Given the description of an element on the screen output the (x, y) to click on. 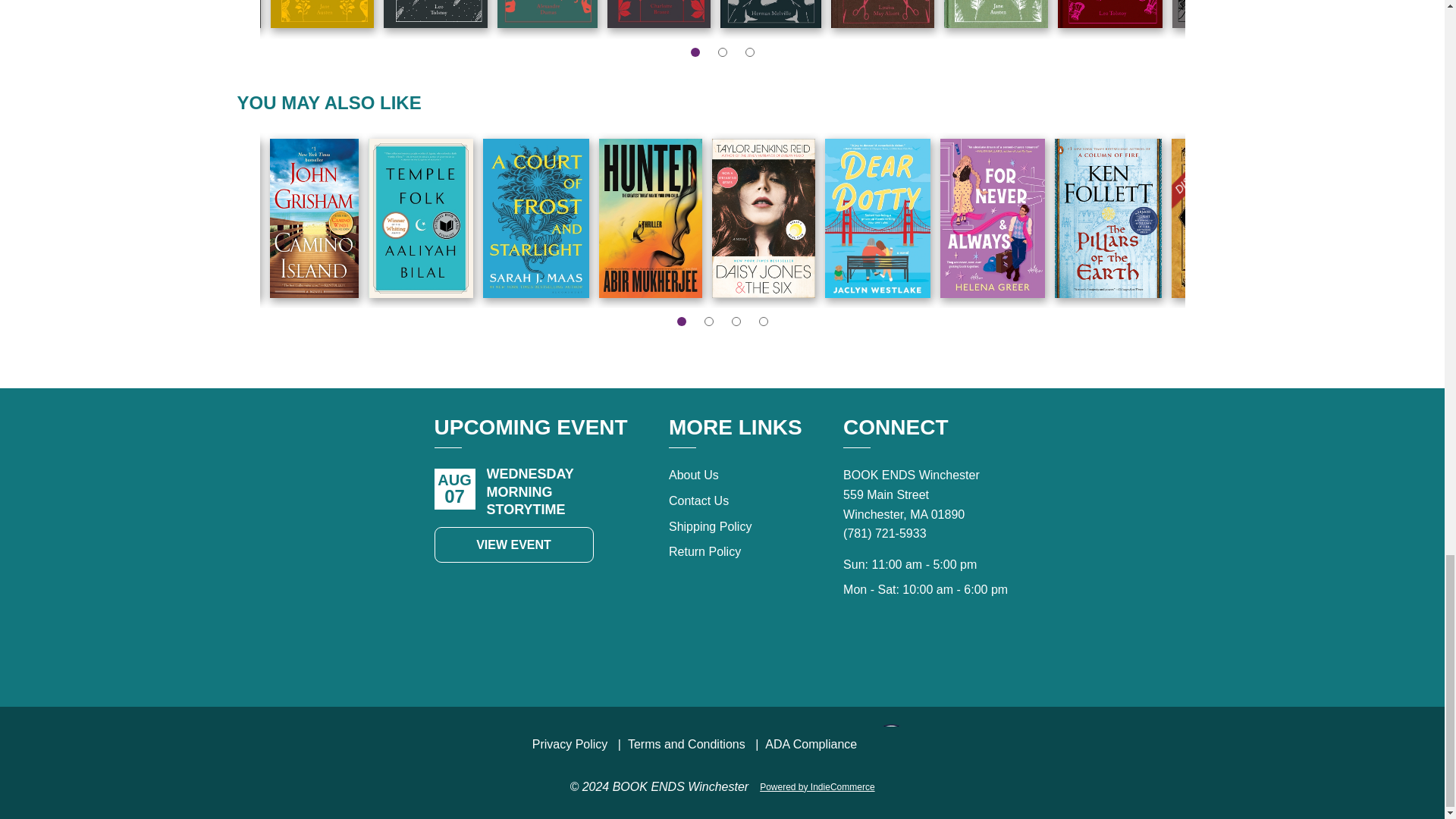
Connect with Instagram (959, 653)
Connect with Tik Tok (892, 653)
Connect with Facebook (926, 653)
